Given the description of an element on the screen output the (x, y) to click on. 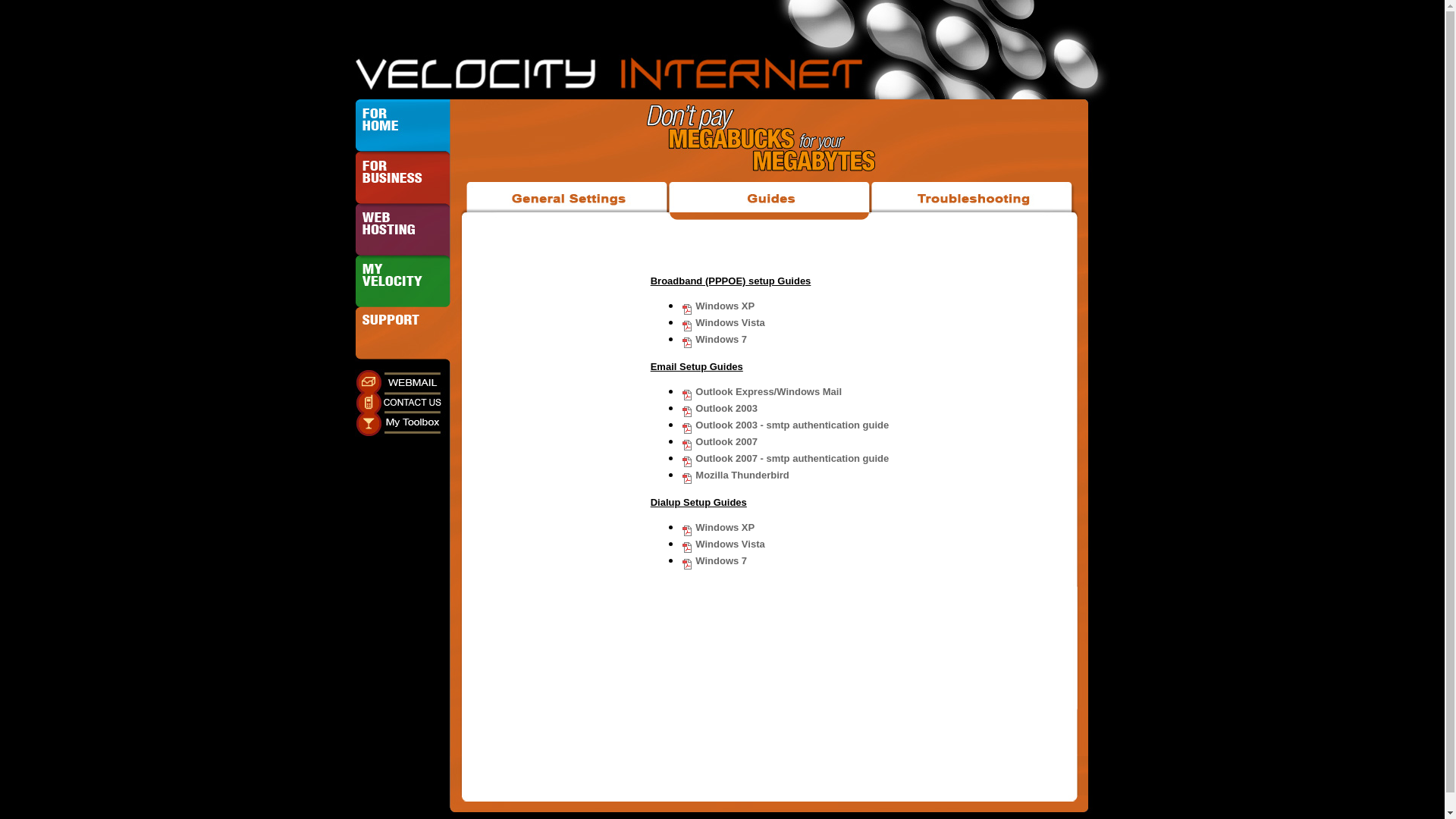
Outlook Express/Windows Mail Element type: text (760, 391)
Windows Vista Element type: text (722, 543)
Windows 7 Element type: text (713, 339)
Outlook 2003 - smtp authentication guide Element type: text (784, 424)
Windows XP Element type: text (717, 305)
Windows Vista Element type: text (722, 322)
Windows XP Element type: text (717, 527)
Windows 7 Element type: text (713, 560)
Outlook 2007 Element type: text (718, 441)
Outlook 2003 Element type: text (718, 408)
Mozilla Thunderbird Element type: text (734, 474)
Outlook 2007 - smtp authentication guide Element type: text (784, 458)
